Given the description of an element on the screen output the (x, y) to click on. 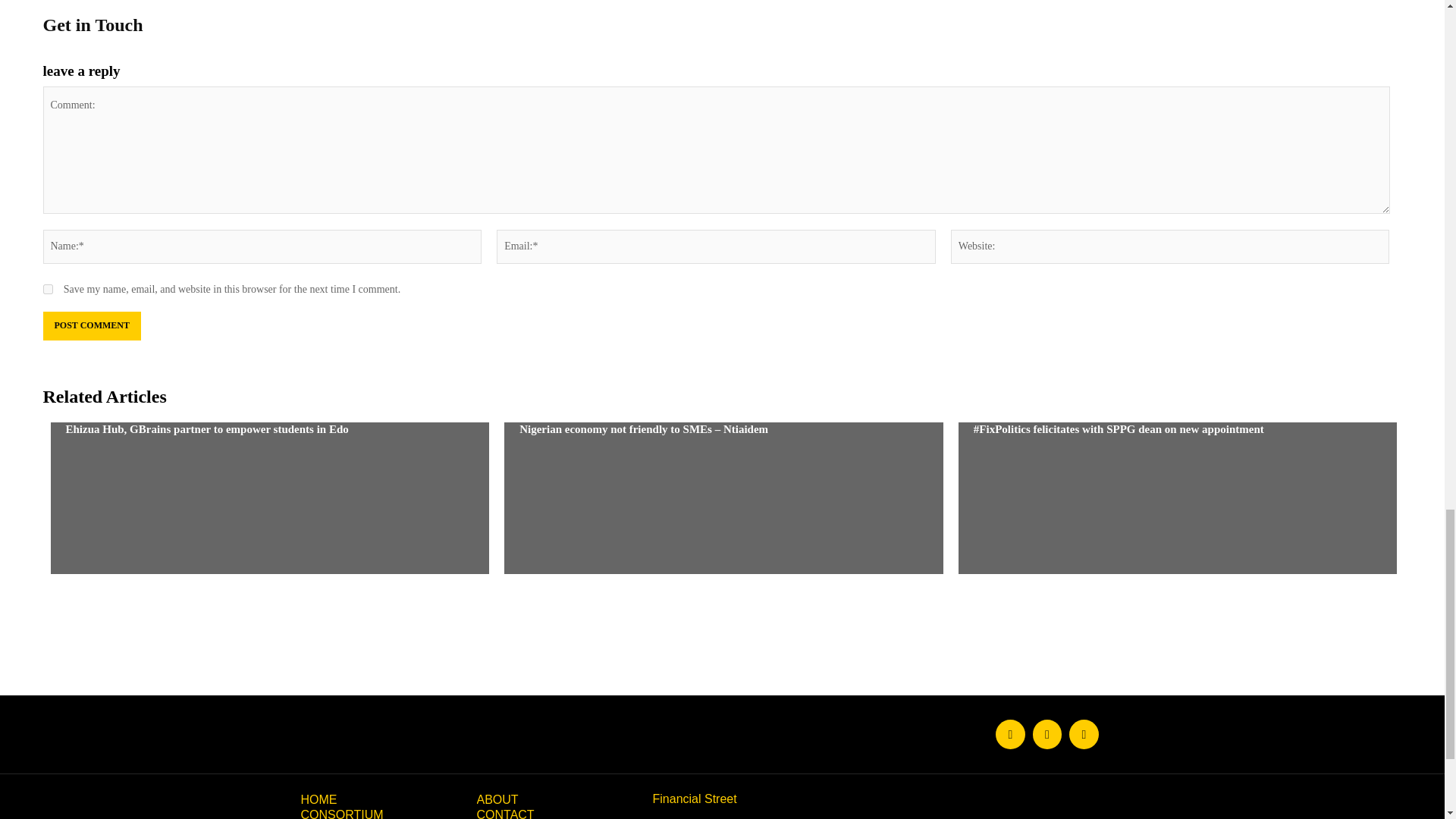
yes (47, 289)
Post Comment (90, 326)
